Given the description of an element on the screen output the (x, y) to click on. 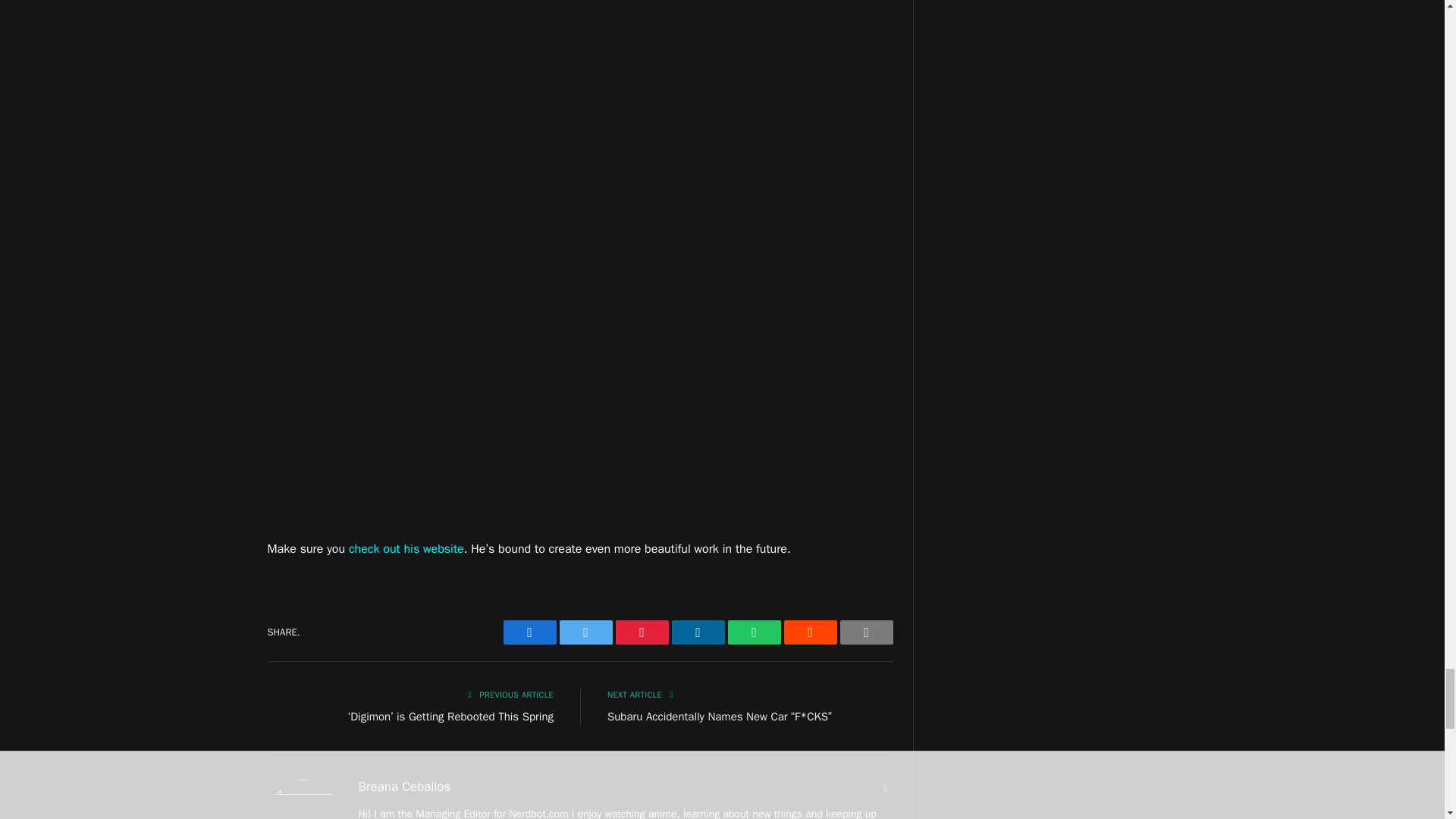
Share on Facebook (529, 631)
Share on Pinterest (641, 631)
Pinterest (641, 631)
Twitter (585, 631)
Share on LinkedIn (698, 631)
Share on WhatsApp (754, 631)
check out his website (406, 548)
Facebook (529, 631)
LinkedIn (698, 631)
